Given the description of an element on the screen output the (x, y) to click on. 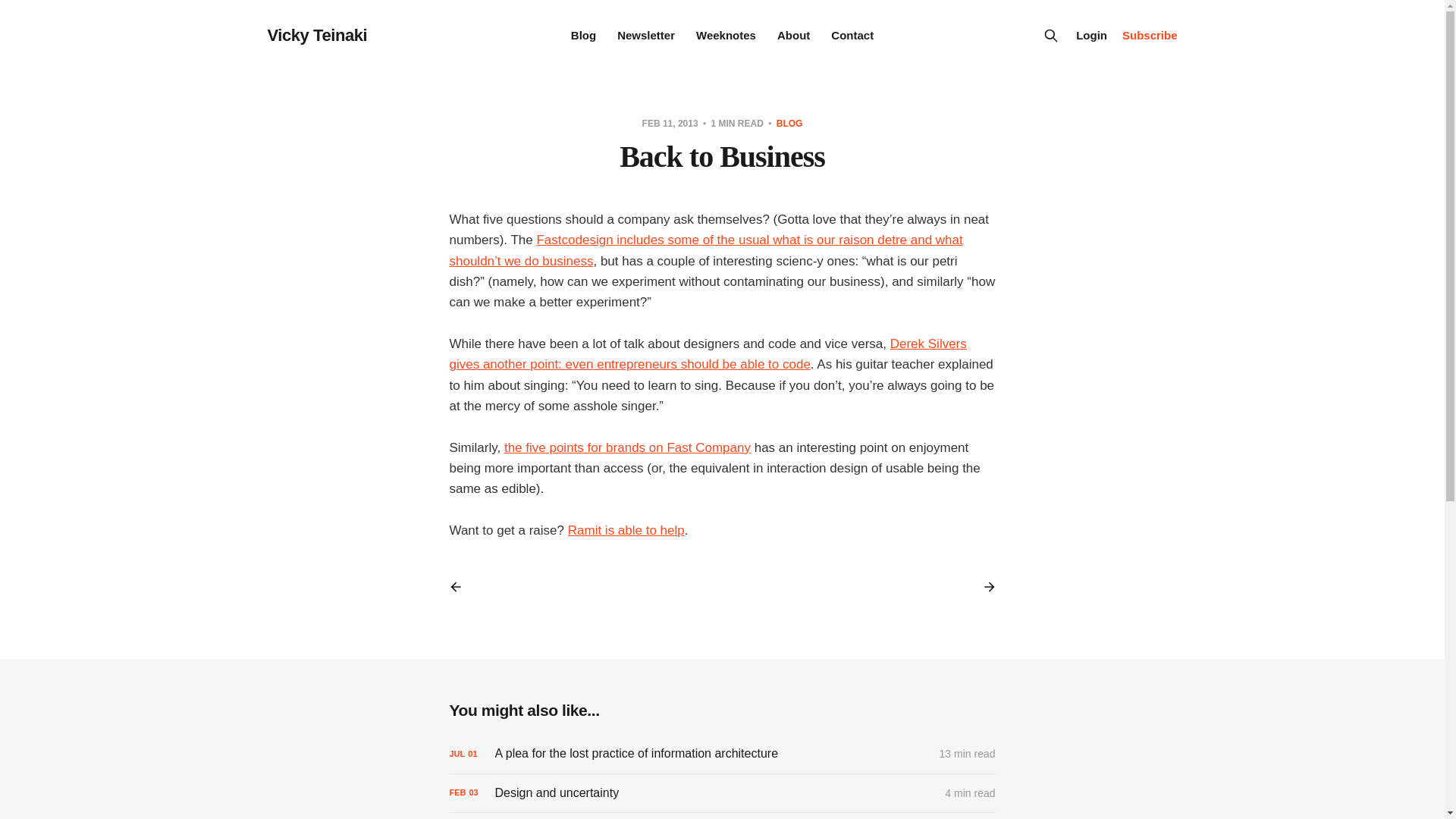
the five points for brands on Fast Company (627, 447)
Ramit is able to help (625, 530)
About (793, 34)
BLOG (789, 122)
Subscribe (1149, 35)
Newsletter (646, 34)
Login (1090, 35)
Weeknotes (725, 34)
Blog (582, 34)
Vicky Teinaki (316, 35)
Contact (852, 34)
